Given the description of an element on the screen output the (x, y) to click on. 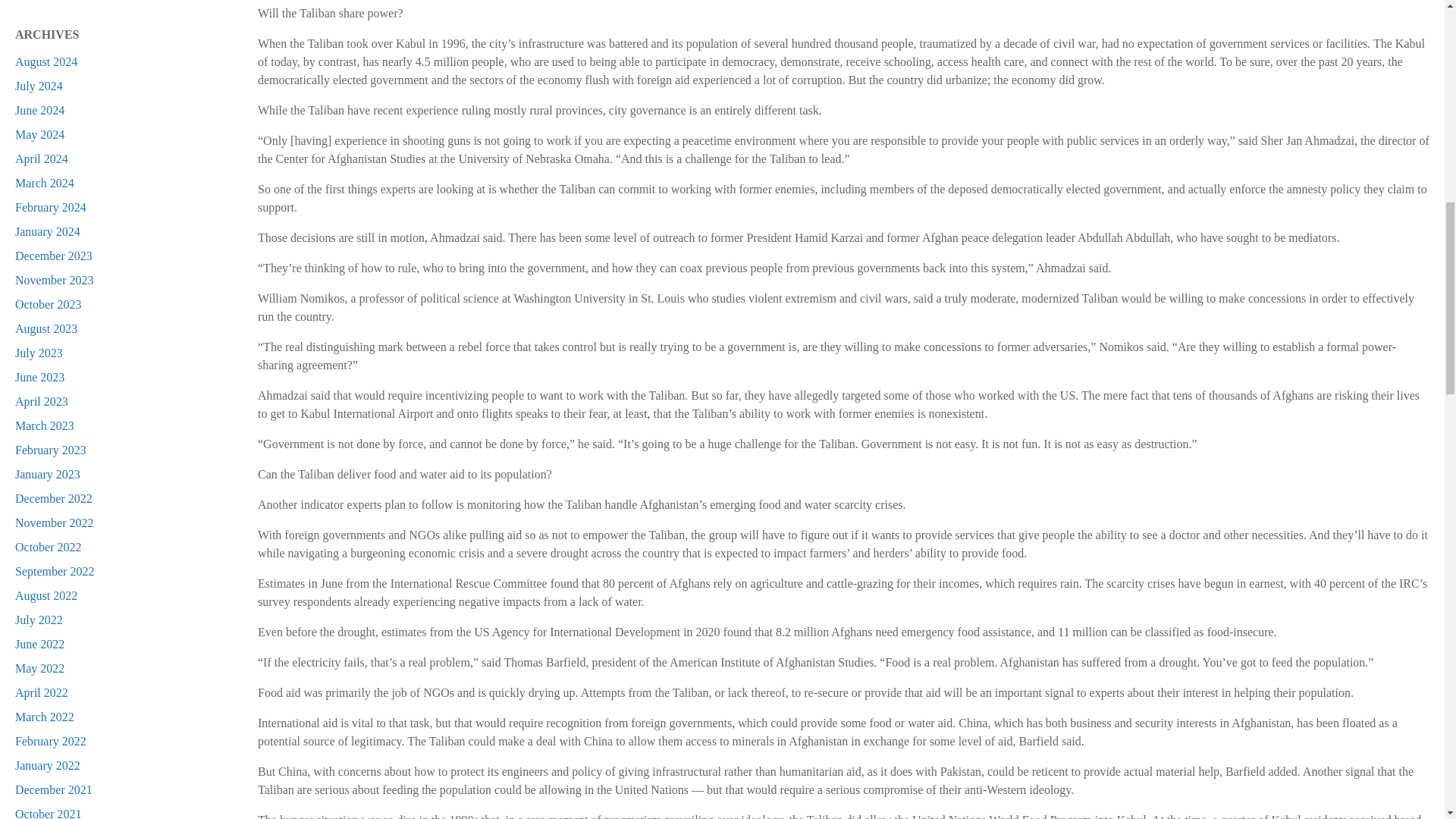
March 2023 (44, 425)
January 2024 (47, 231)
December 2023 (53, 255)
November 2023 (54, 279)
April 2023 (41, 400)
June 2023 (39, 377)
August 2023 (45, 328)
May 2024 (39, 133)
April 2024 (41, 158)
August 2024 (45, 61)
July 2024 (38, 85)
March 2024 (44, 182)
February 2024 (49, 206)
July 2023 (38, 352)
October 2023 (47, 304)
